Given the description of an element on the screen output the (x, y) to click on. 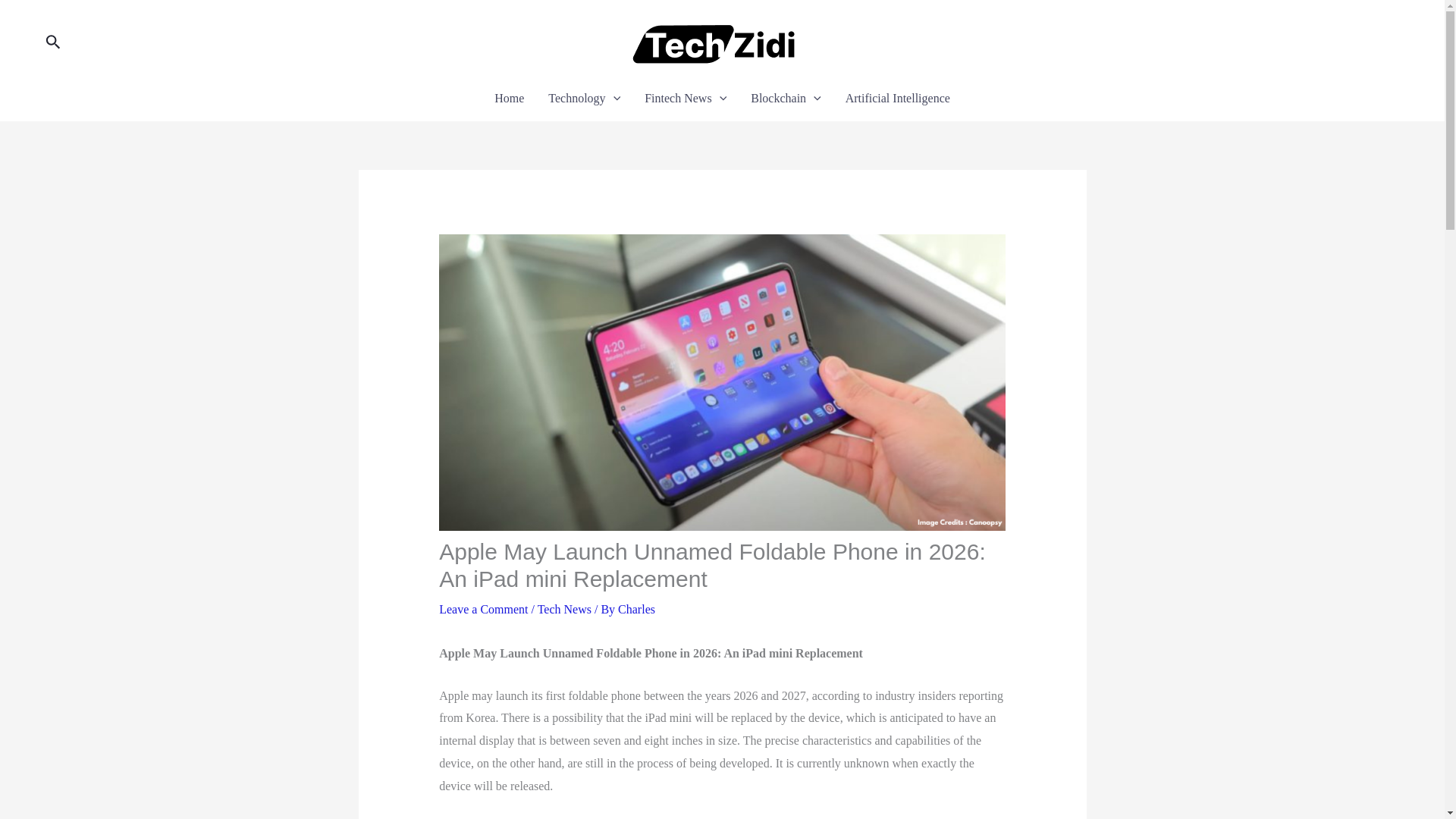
Tech News (564, 608)
Fintech News (684, 97)
Technology (583, 97)
Blockchain (785, 97)
Home (508, 97)
View all posts by Charles (636, 608)
Leave a Comment (483, 608)
Charles (636, 608)
Artificial Intelligence (897, 97)
